Given the description of an element on the screen output the (x, y) to click on. 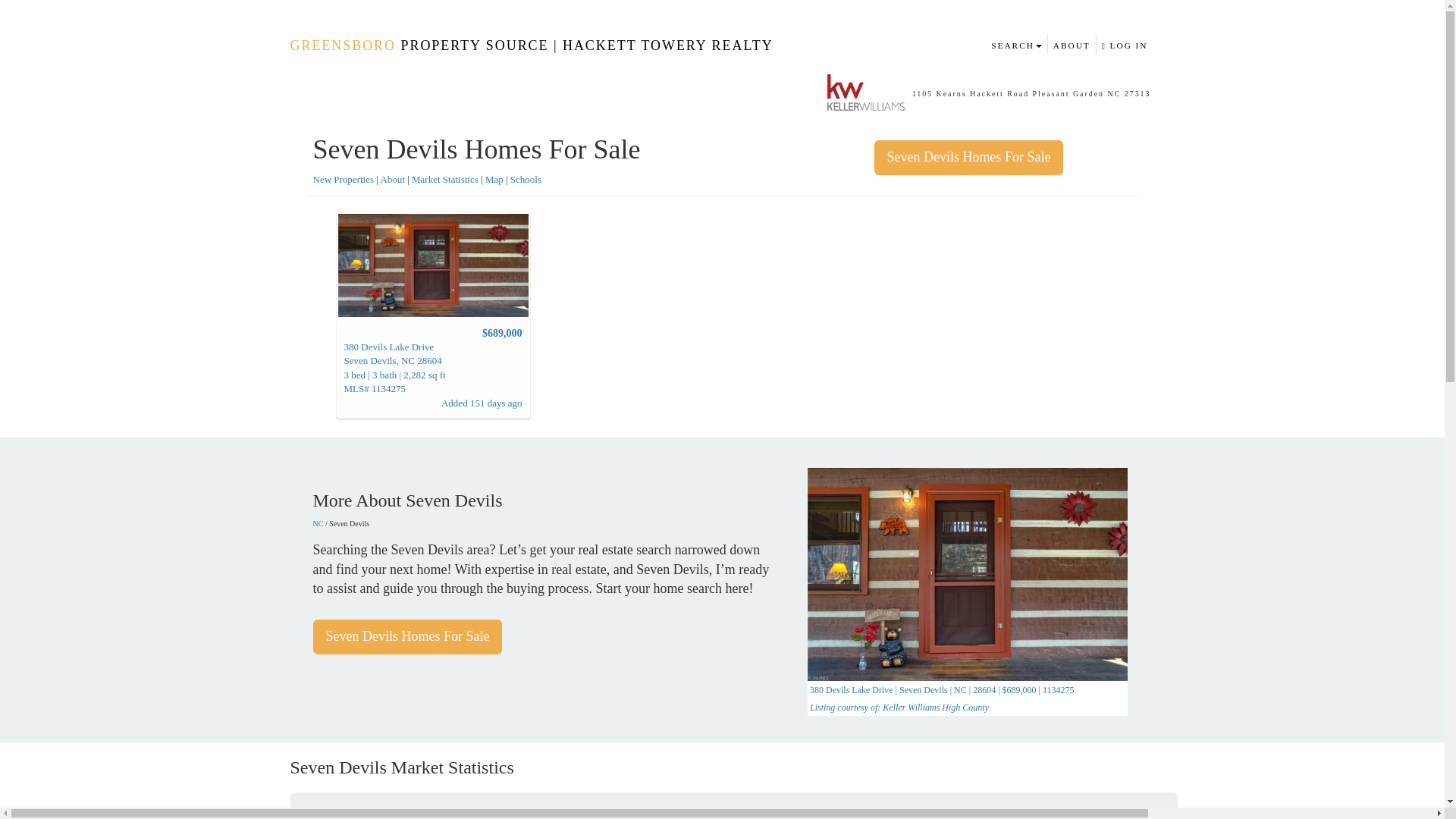
Map (493, 179)
Seven Devils Homes For Sale (967, 157)
Market Statistics (445, 179)
 LOG IN (1124, 44)
Search (1015, 44)
About (392, 179)
NC (318, 523)
About (392, 179)
ABOUT (1072, 44)
Map (493, 179)
Seven Devils Homes For Sale (407, 636)
Schools (526, 179)
Schools (526, 179)
Market Statistics (445, 179)
New Properties (343, 179)
